Given the description of an element on the screen output the (x, y) to click on. 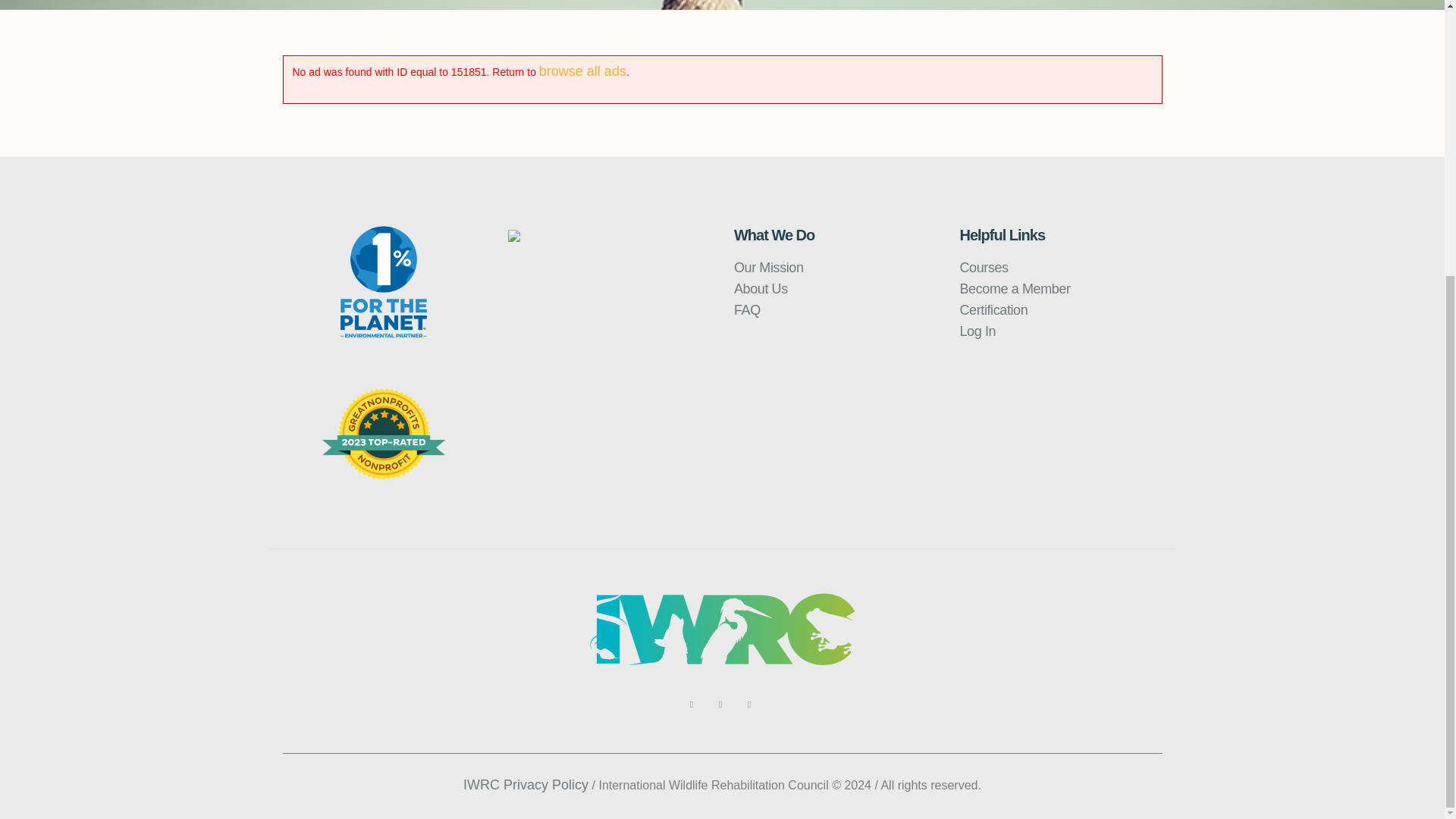
YouTube (720, 703)
Instagram (749, 703)
Facebook (691, 703)
International Wildlife Rehabilitation Council (722, 629)
